Given the description of an element on the screen output the (x, y) to click on. 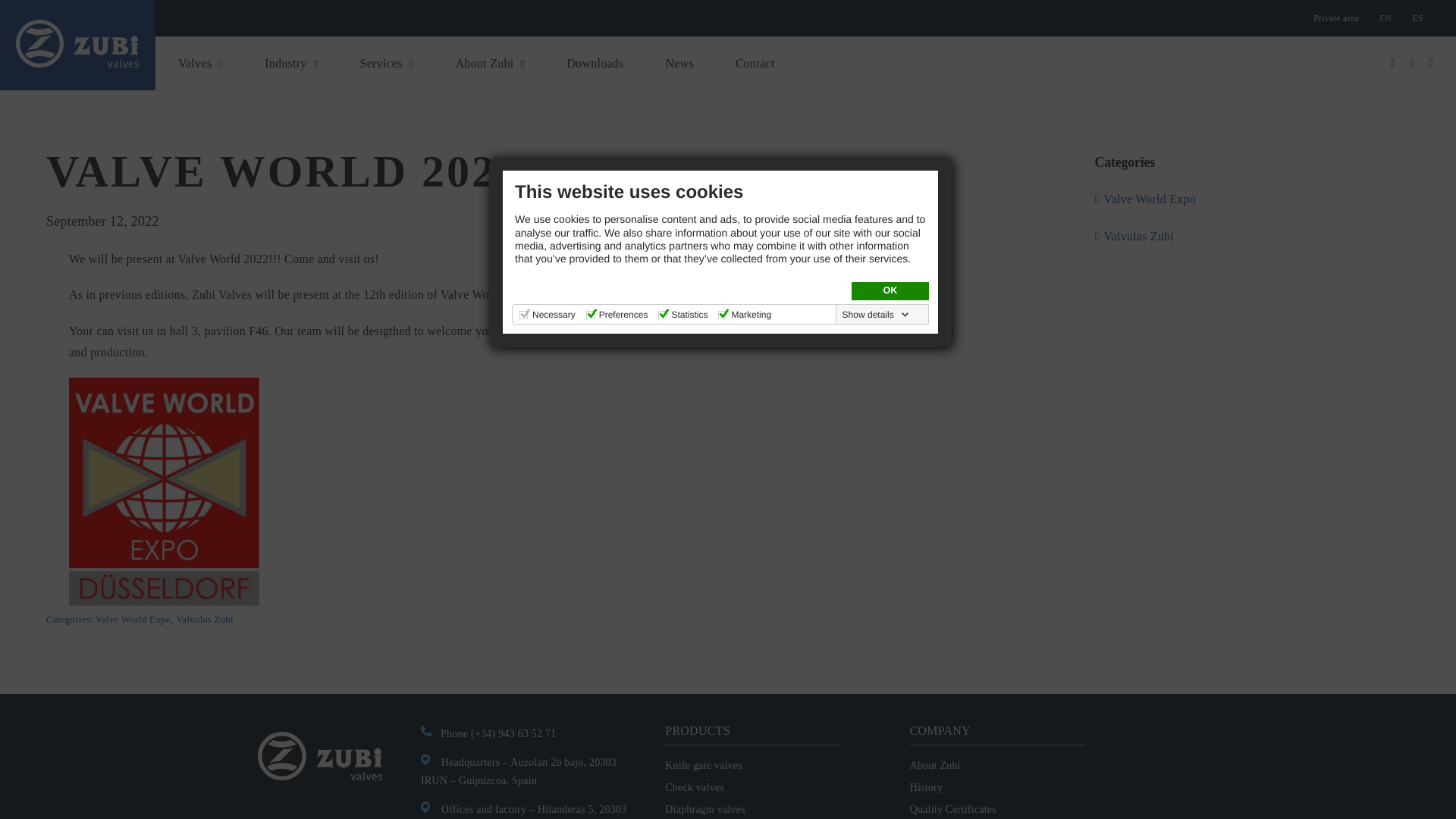
Show details (876, 314)
OK (889, 290)
